Given the description of an element on the screen output the (x, y) to click on. 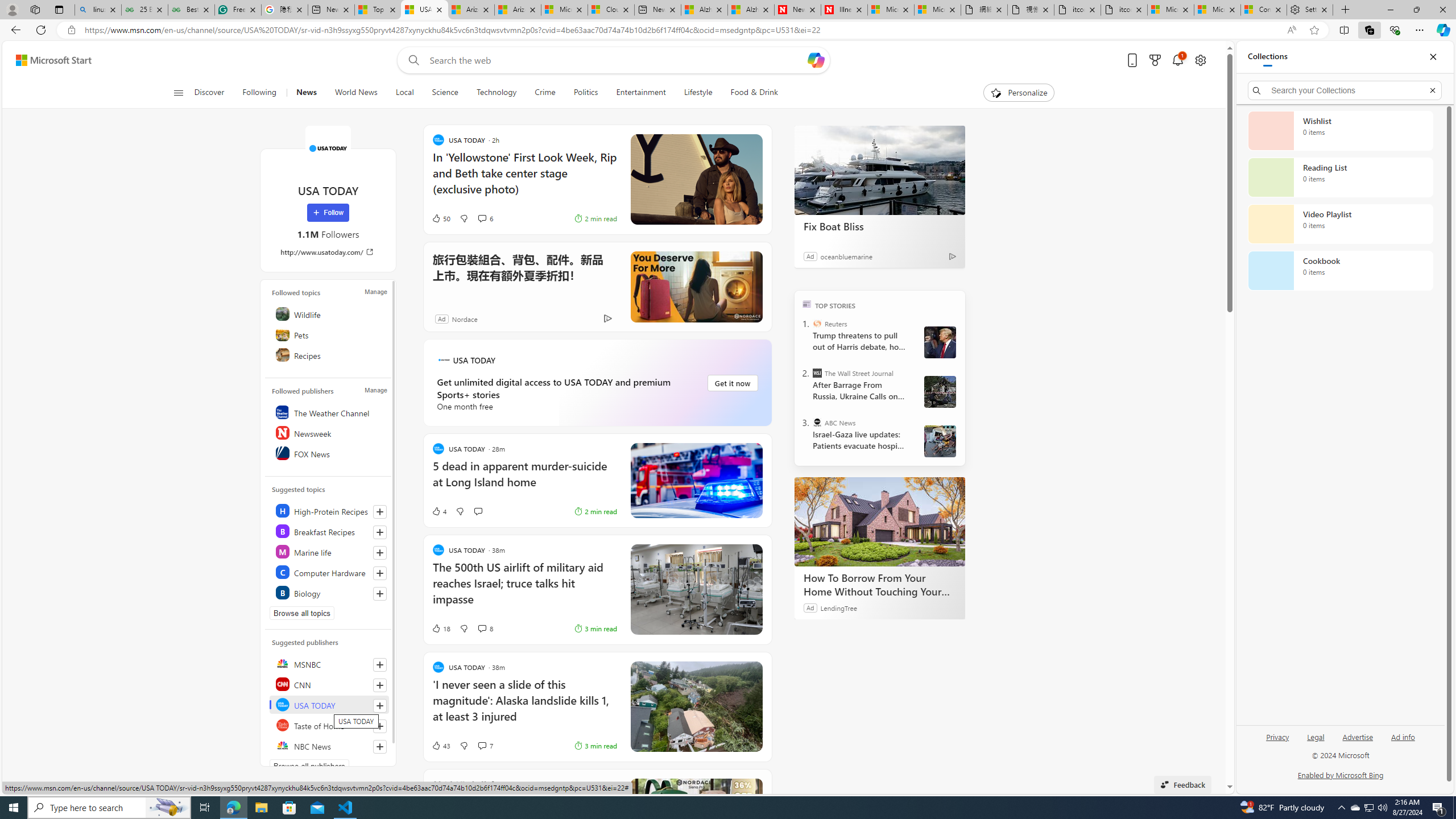
View comments 8 Comment (485, 628)
Fix Boat Bliss (879, 226)
Class: highlight (328, 592)
Wildlife (328, 313)
43 Like (440, 745)
Cookbook collection, 0 items (1339, 270)
